Given the description of an element on the screen output the (x, y) to click on. 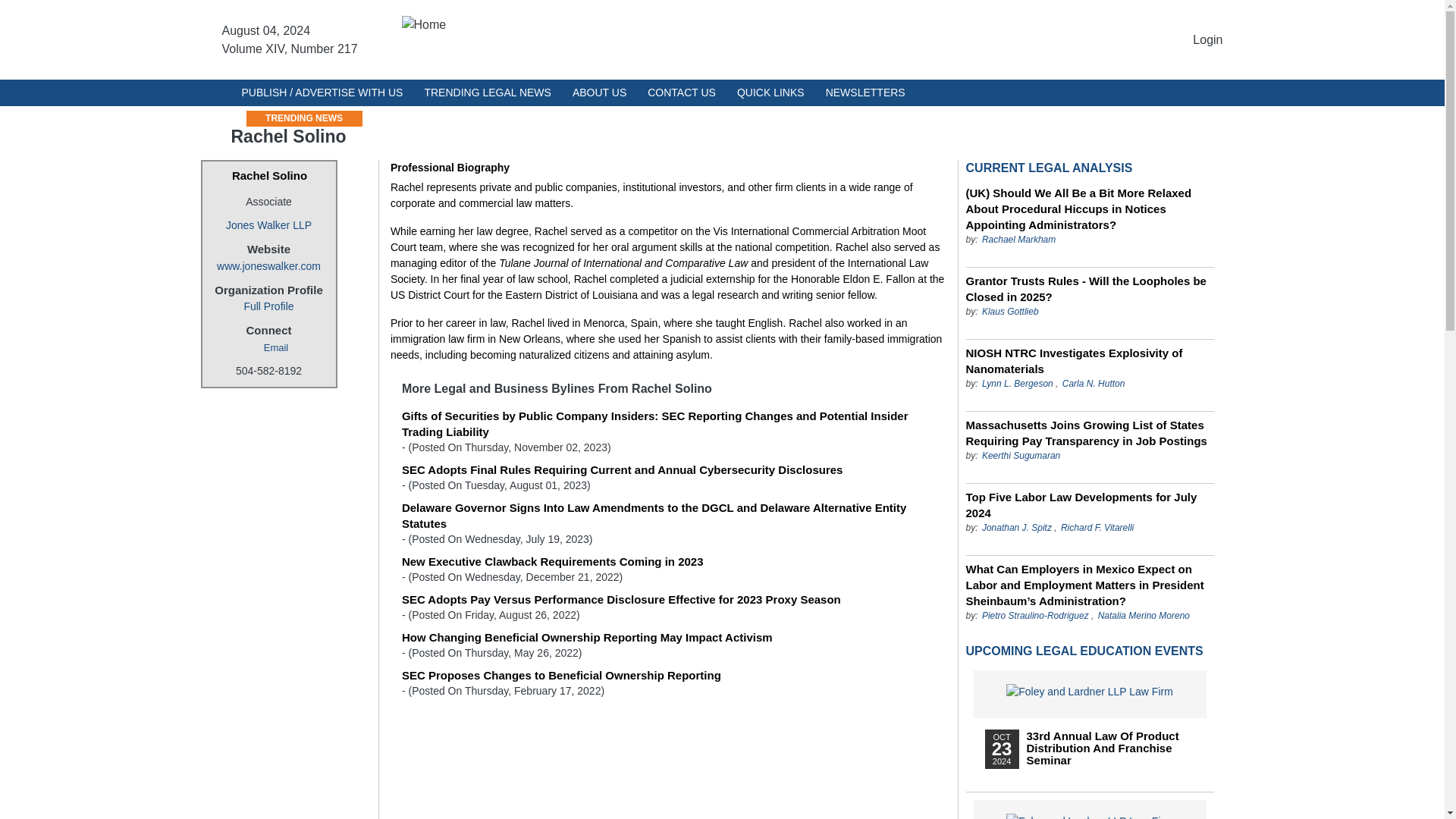
Login (1207, 39)
Home (721, 39)
